Given the description of an element on the screen output the (x, y) to click on. 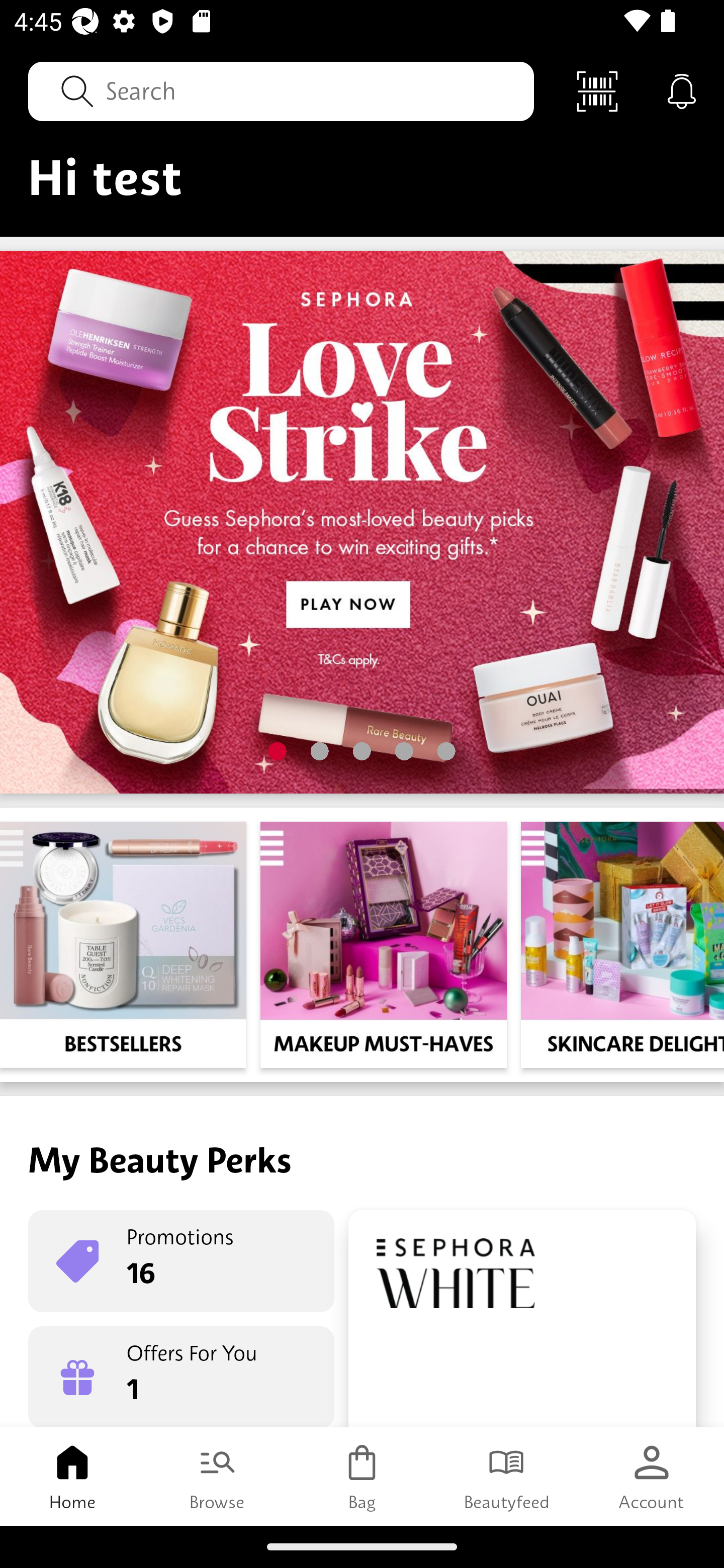
Scan Code (597, 90)
Notifications (681, 90)
Search (281, 90)
Promotions 16 (181, 1261)
Rewards Boutique 90 Pts (521, 1318)
Offers For You 1 (181, 1376)
Browse (216, 1475)
Bag (361, 1475)
Beautyfeed (506, 1475)
Account (651, 1475)
